Given the description of an element on the screen output the (x, y) to click on. 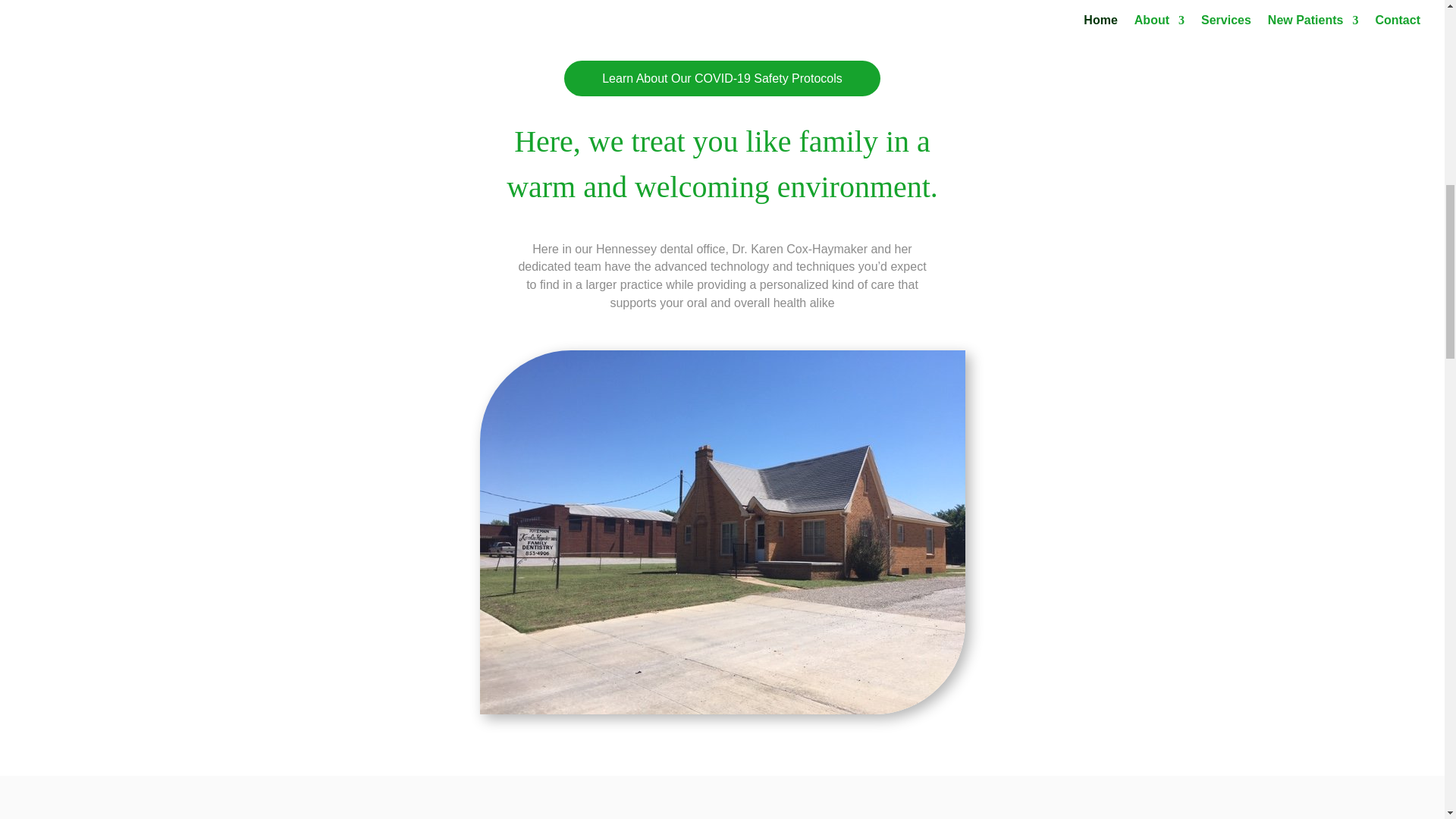
Learn About Our COVID-19 Safety Protocols (722, 78)
